Given the description of an element on the screen output the (x, y) to click on. 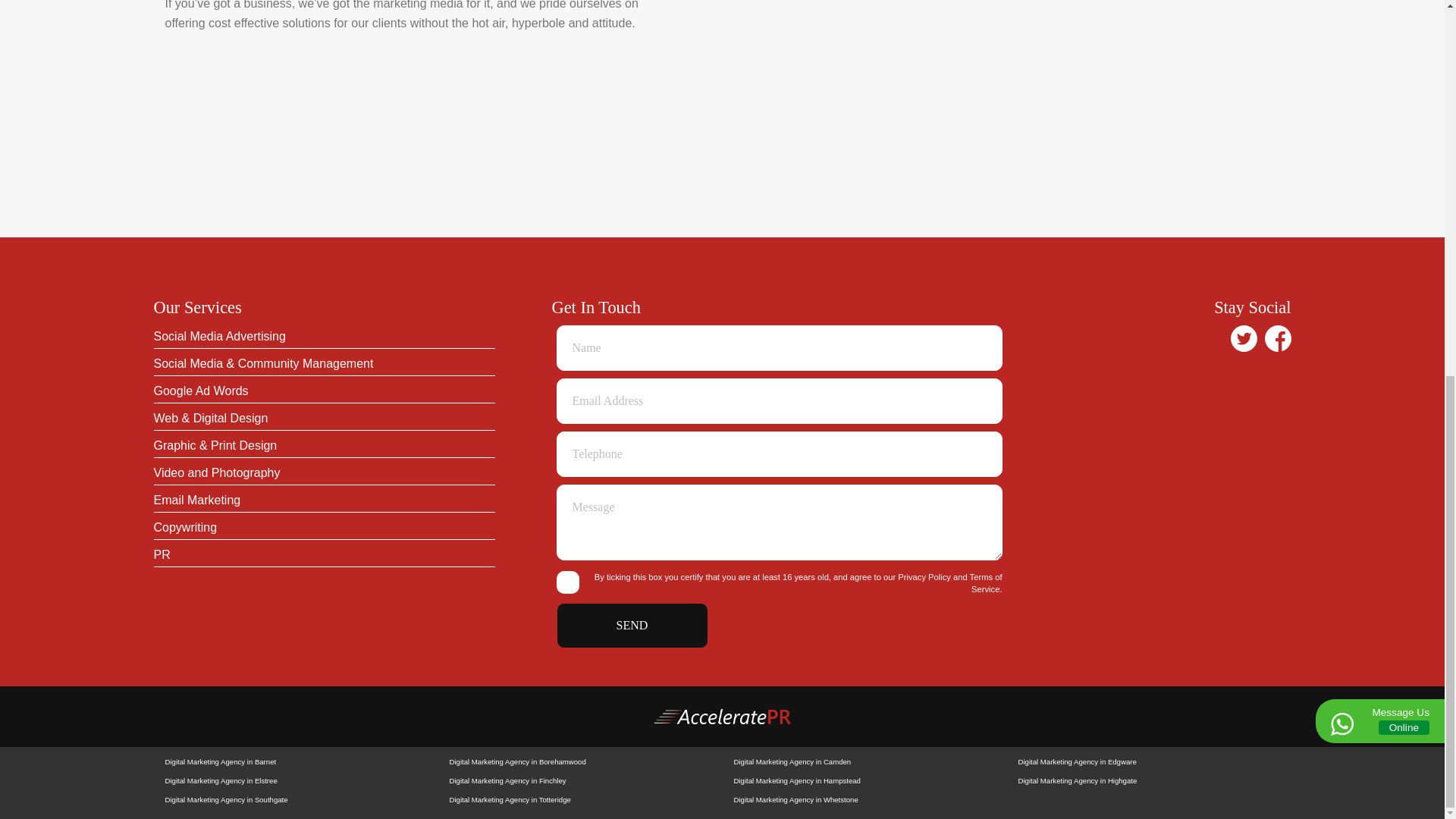
Digital Marketing Agency in Borehamwood (579, 761)
SEND (631, 625)
Digital Marketing Agency in Finchley (579, 780)
PR (323, 555)
SEND (631, 625)
Google Ad Words (323, 391)
Digital Marketing Agency in Elstree (295, 780)
Video and Photography (323, 473)
Social Media Advertising (323, 336)
Digital Marketing Agency in Edgware (1148, 761)
Email Marketing (323, 500)
1 (567, 581)
Copywriting (323, 527)
Digital Marketing Agency in Barnet (295, 761)
Digital Marketing Agency in Camden (864, 761)
